Given the description of an element on the screen output the (x, y) to click on. 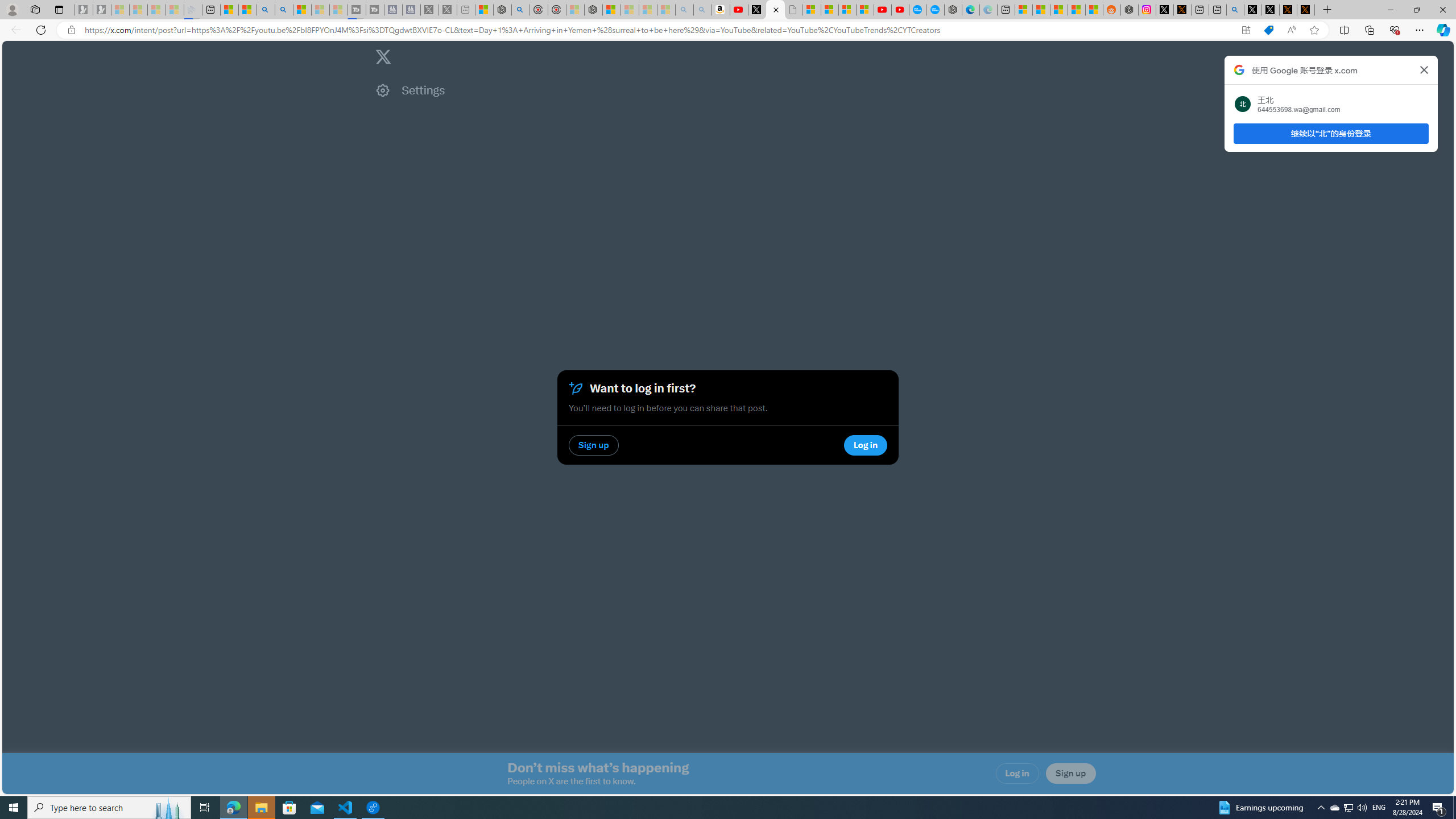
Settings and more (Alt+F) (1419, 29)
help.x.com | 524: A timeout occurred (1182, 9)
Personal Profile (12, 9)
GitHub (@github) / X (1270, 9)
Close (1442, 9)
YouTube Kids - An App Created for Kids to Explore Content (900, 9)
App bar (728, 29)
New tab - Sleeping (466, 9)
New Tab (1327, 9)
